Given the description of an element on the screen output the (x, y) to click on. 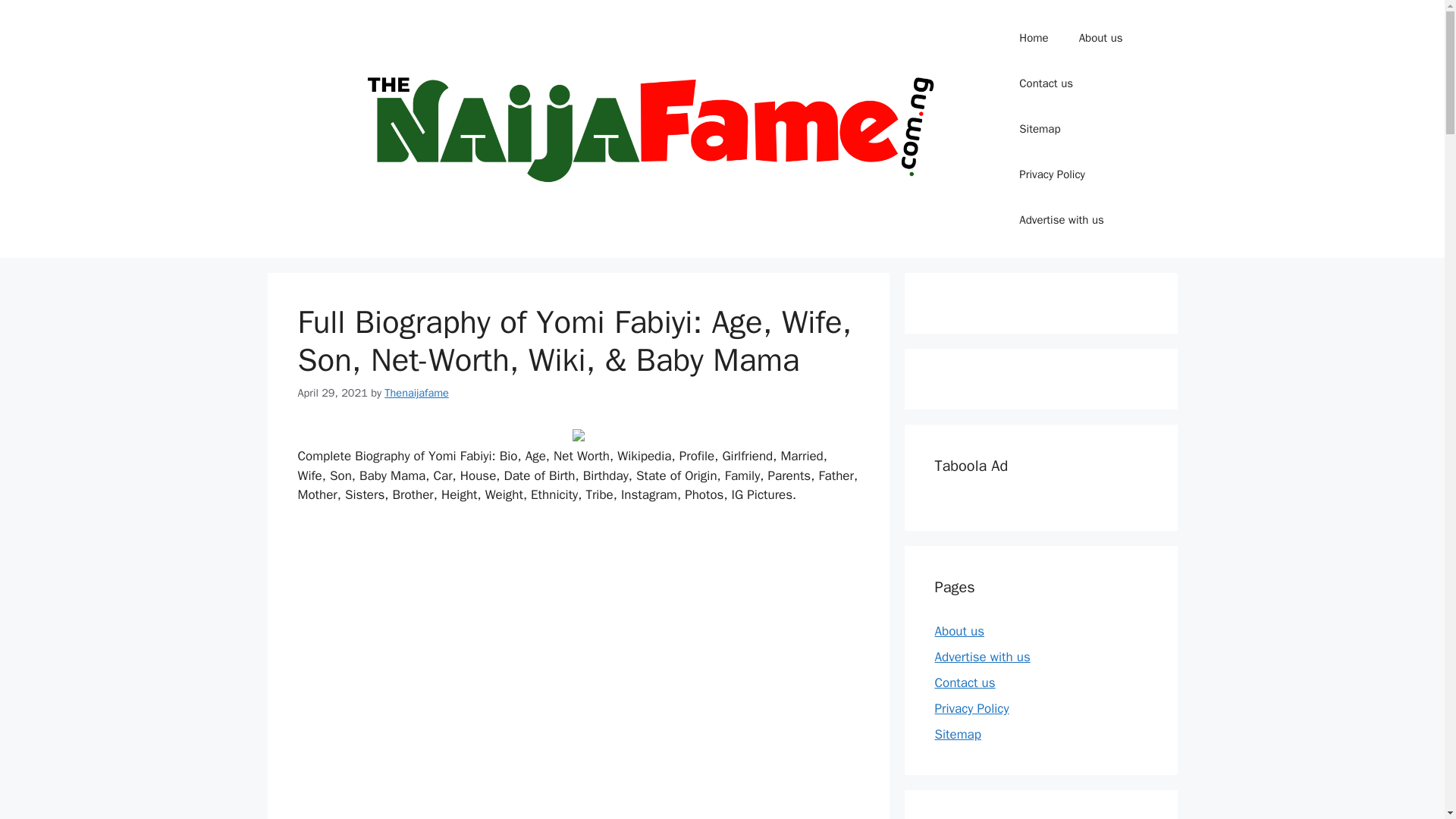
Home (1033, 37)
About us (959, 631)
Privacy Policy (1052, 174)
About us (1101, 37)
Advertise with us (1061, 219)
Thenaijafame (416, 392)
Contact us (1045, 83)
View all posts by Thenaijafame (416, 392)
Sitemap (1039, 128)
